Given the description of an element on the screen output the (x, y) to click on. 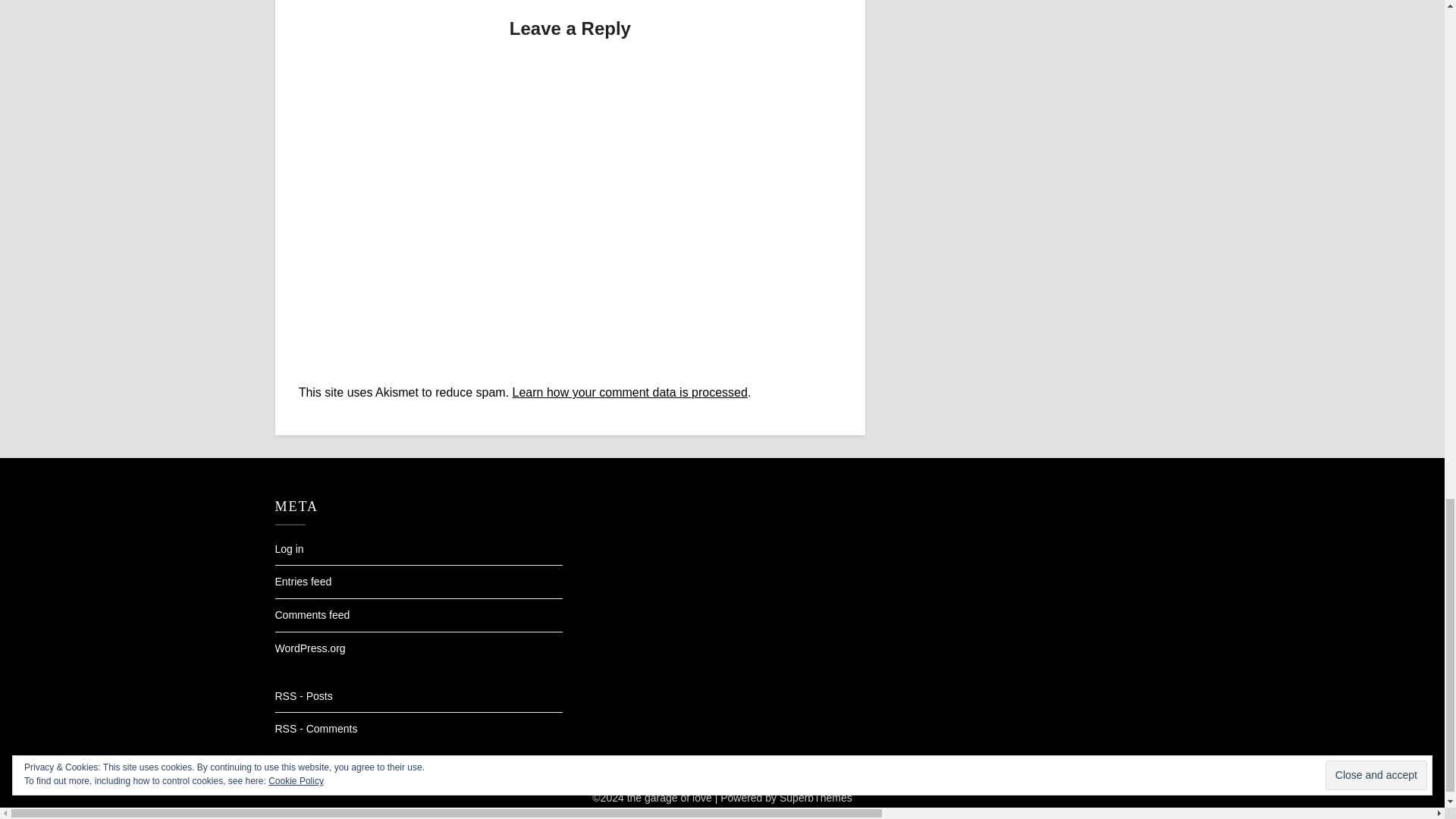
Learn how your comment data is processed (630, 391)
Subscribe to posts (303, 695)
Log in (288, 548)
RSS - Posts (303, 695)
Subscribe to comments (315, 728)
WordPress.org (310, 648)
Entries feed (303, 581)
Comments feed (312, 614)
